Given the description of an element on the screen output the (x, y) to click on. 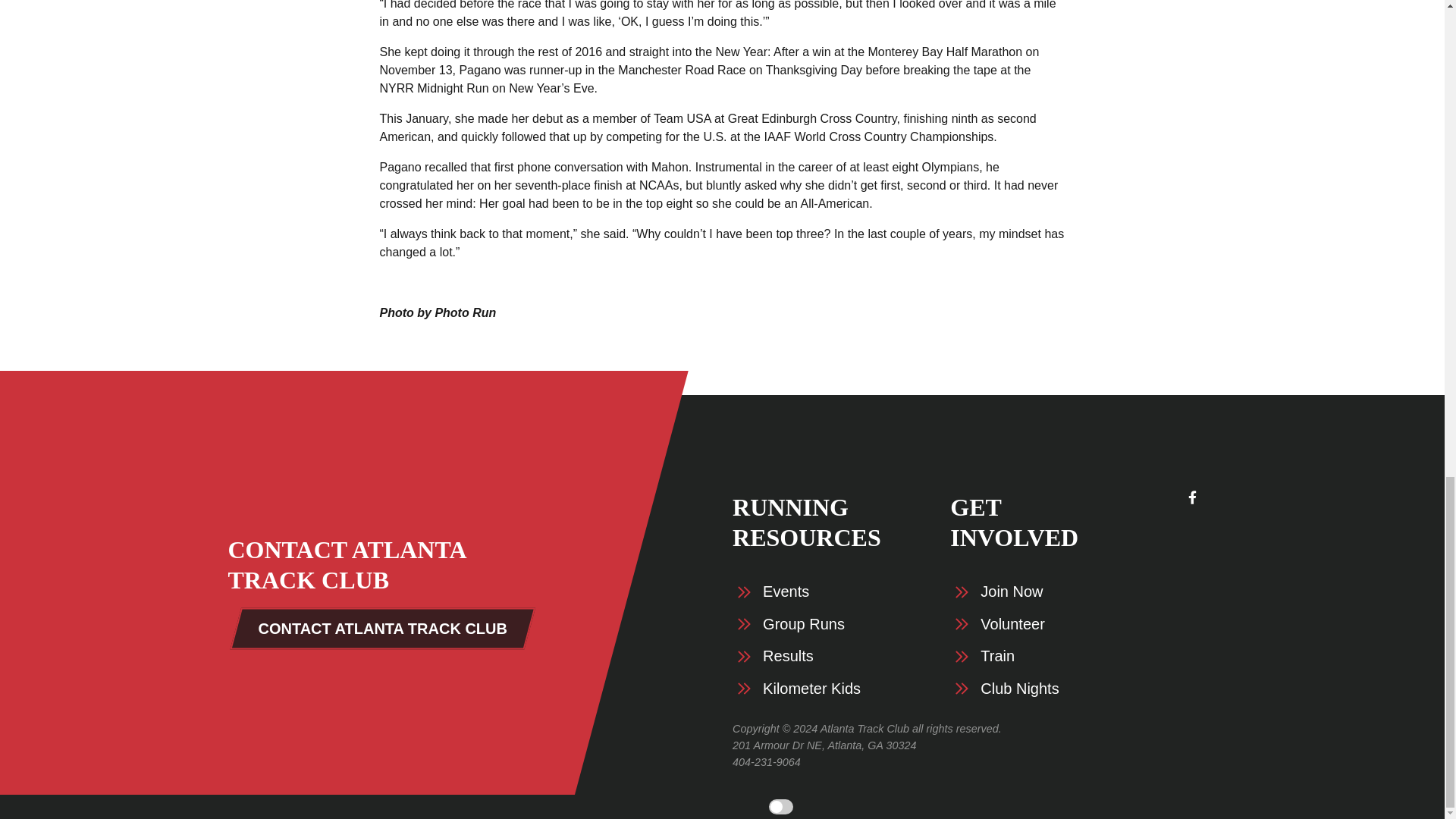
Instagram (1191, 618)
LinkedIn (1191, 588)
YouTube (1191, 557)
Facebook (1191, 497)
